Given the description of an element on the screen output the (x, y) to click on. 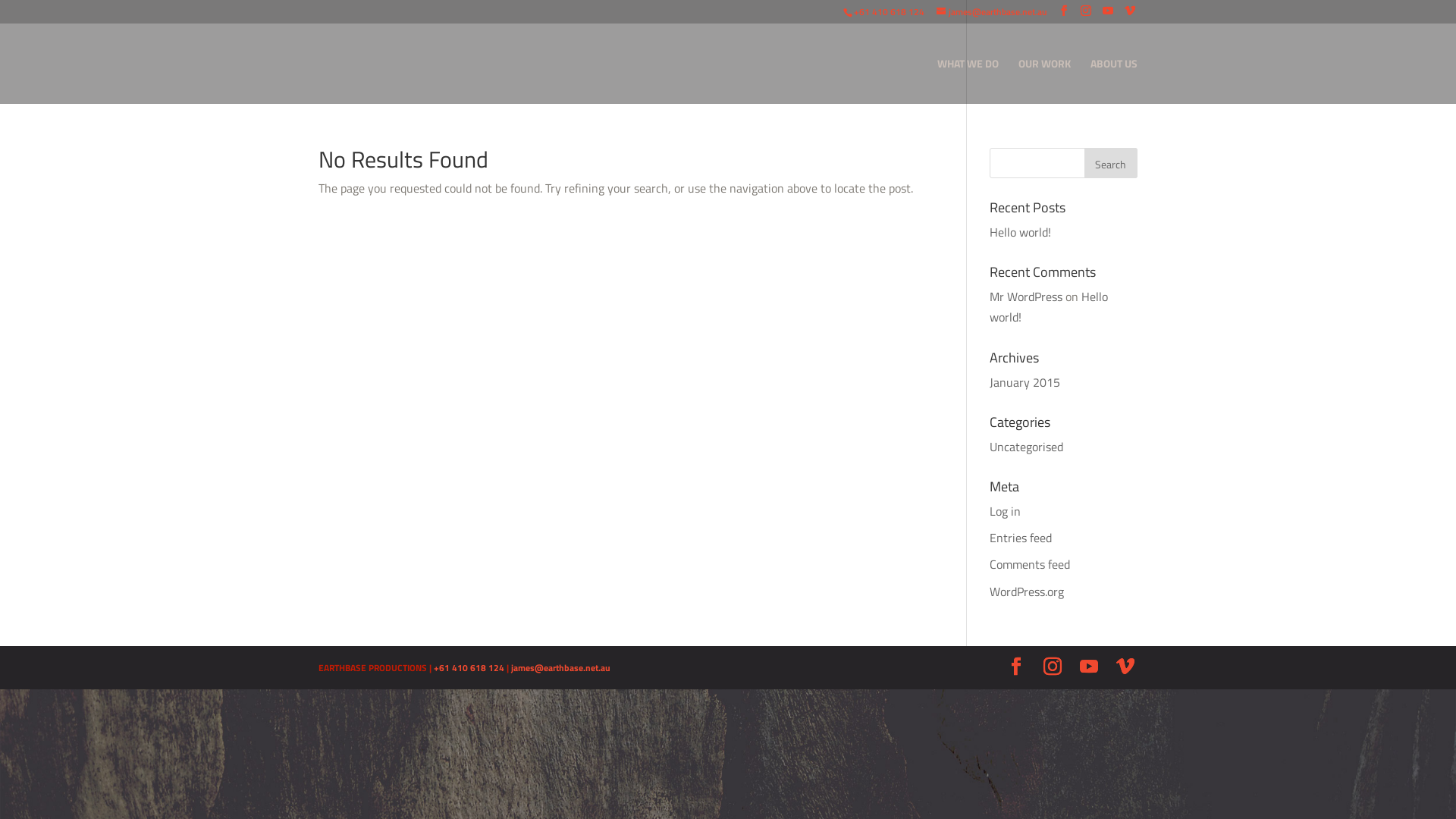
Search Element type: text (1110, 162)
Hello world! Element type: text (1020, 231)
Hello world! Element type: text (1048, 306)
WHAT WE DO Element type: text (967, 80)
Mr WordPress Element type: text (1025, 296)
james@earthbase.net.au Element type: text (991, 11)
OUR WORK Element type: text (1044, 80)
Log in Element type: text (1004, 511)
+61 410 618 124 Element type: text (468, 667)
Entries feed Element type: text (1020, 537)
January 2015 Element type: text (1024, 382)
+61 410 618 124 Element type: text (888, 11)
Uncategorised Element type: text (1026, 446)
ABOUT US Element type: text (1113, 80)
james@earthbase.net.au Element type: text (560, 667)
WordPress.org Element type: text (1026, 591)
Comments feed Element type: text (1029, 564)
